Given the description of an element on the screen output the (x, y) to click on. 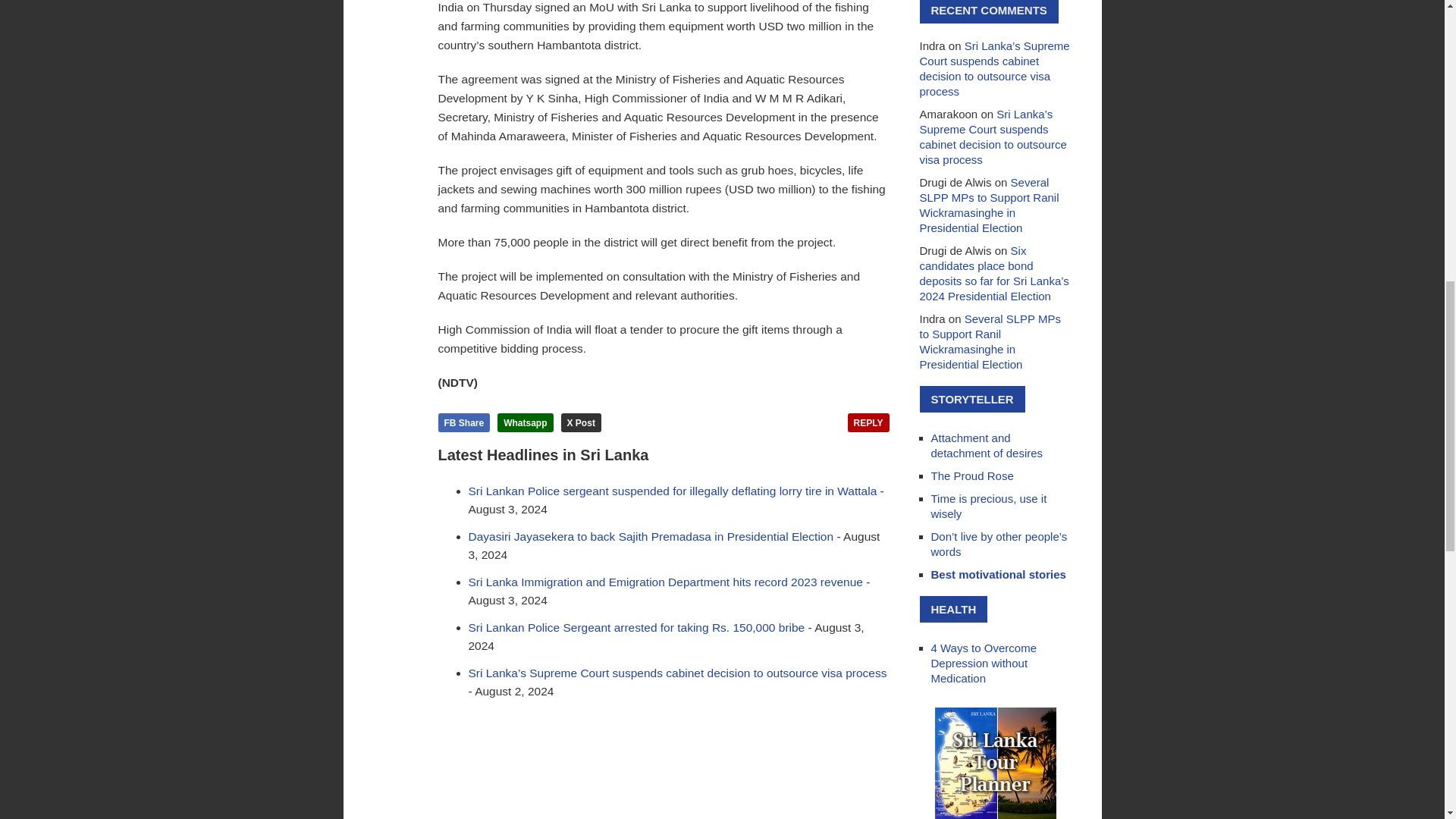
Share on Whatsapp (525, 422)
The Proud Rose (972, 475)
Share on Facebook (464, 422)
Attachment and detachment of desires (987, 445)
REPLY (868, 422)
Advertisement (663, 767)
Whatsapp (525, 422)
